Given the description of an element on the screen output the (x, y) to click on. 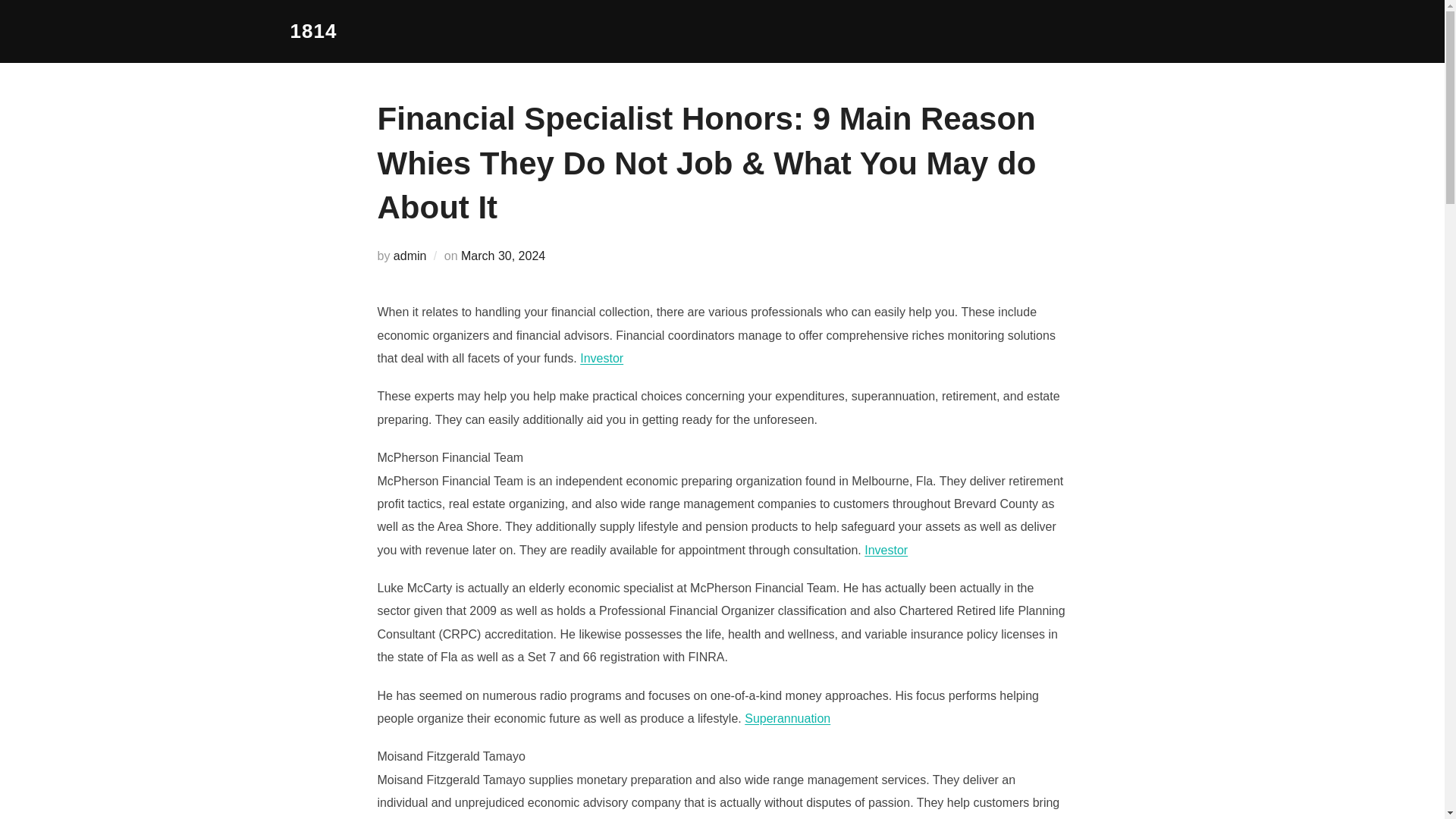
the 18th century (312, 31)
Superannuation (786, 717)
admin (409, 255)
1814 (312, 31)
Investor (601, 358)
March 30, 2024 (502, 255)
Investor (885, 549)
